Given the description of an element on the screen output the (x, y) to click on. 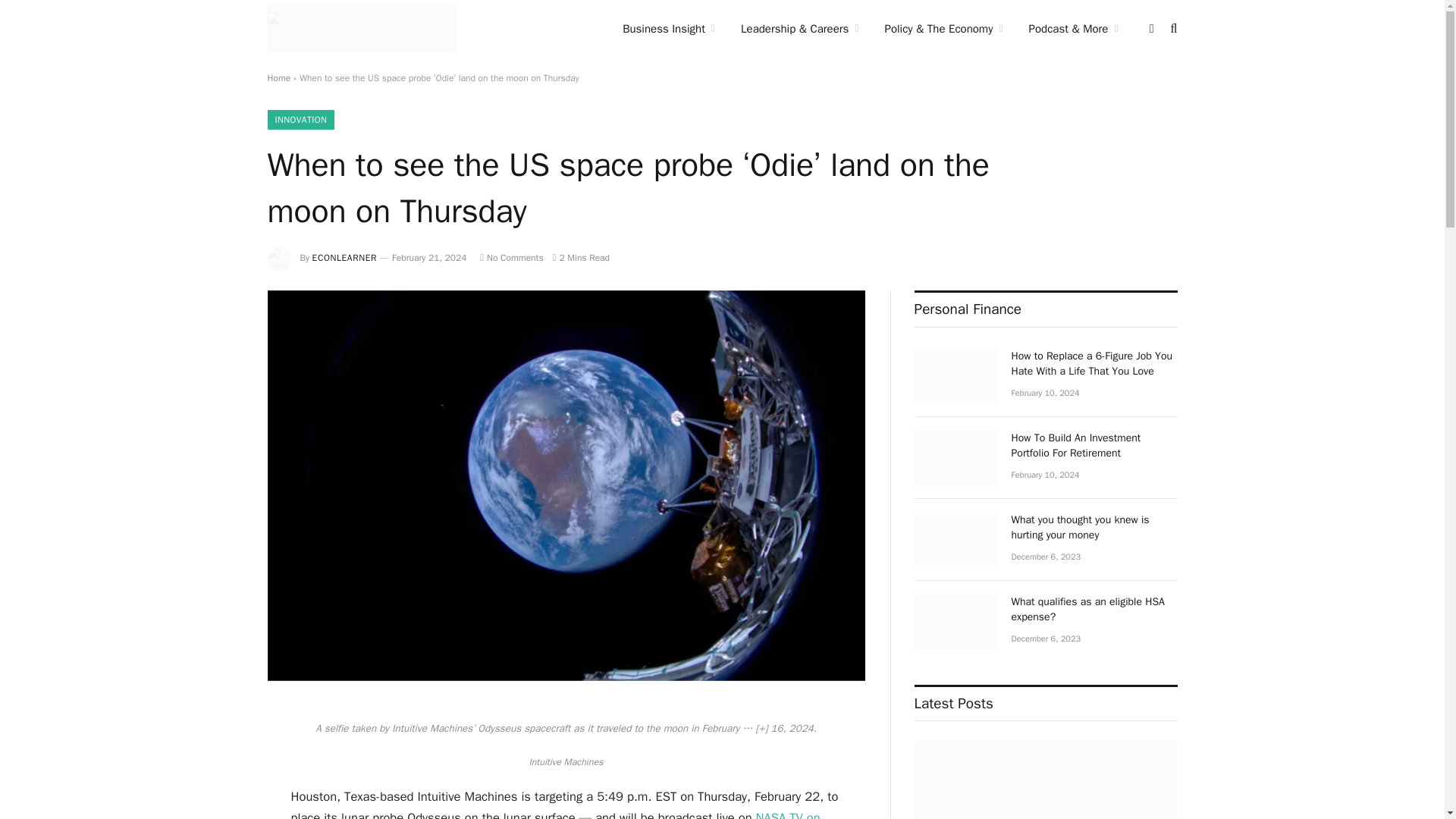
Posts by EconLearner (345, 257)
Switch to Dark Design - easier on eyes. (1151, 28)
Business Insight (669, 28)
EconLearner (361, 28)
